Given the description of an element on the screen output the (x, y) to click on. 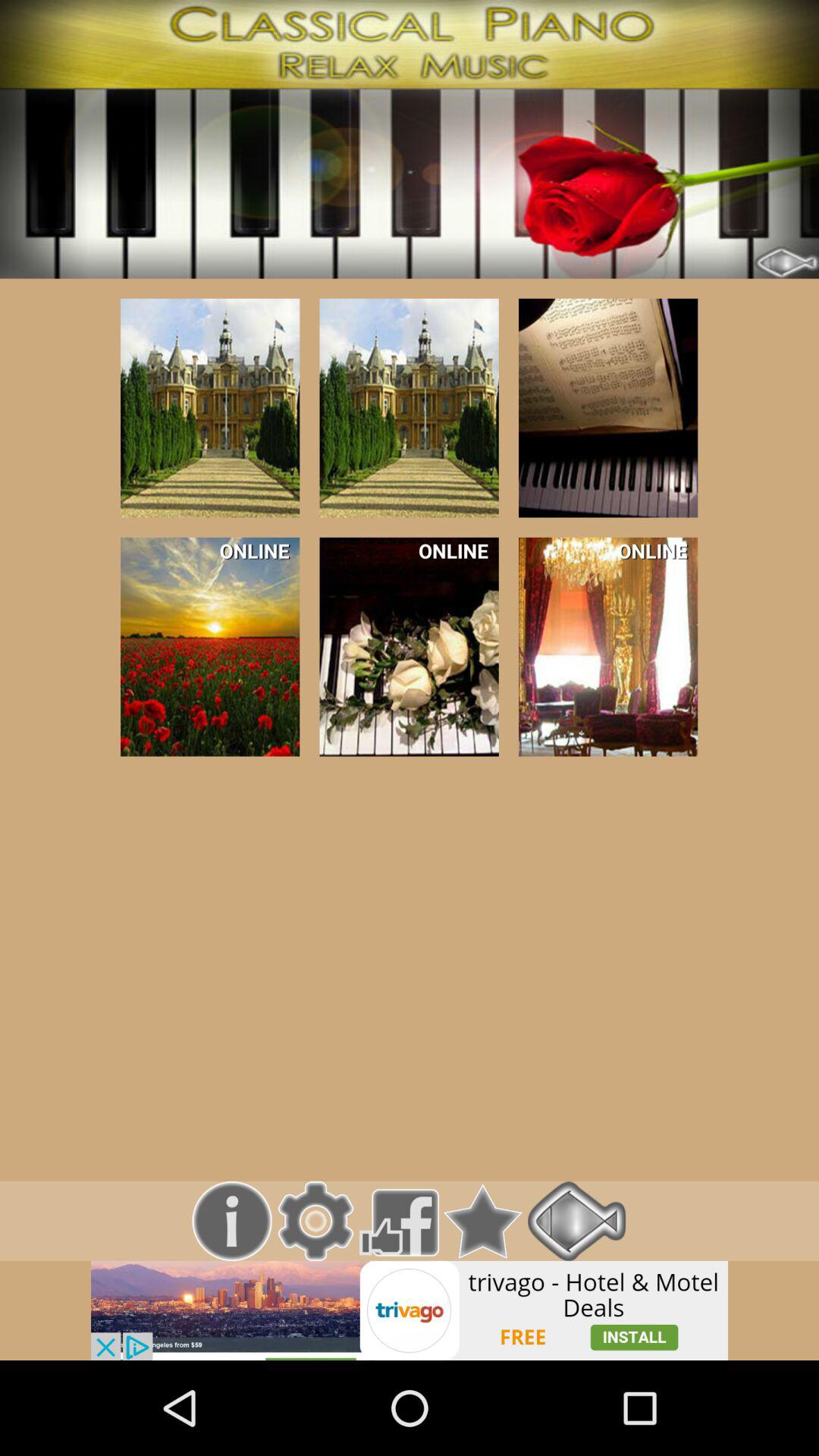
star like (482, 1220)
